Given the description of an element on the screen output the (x, y) to click on. 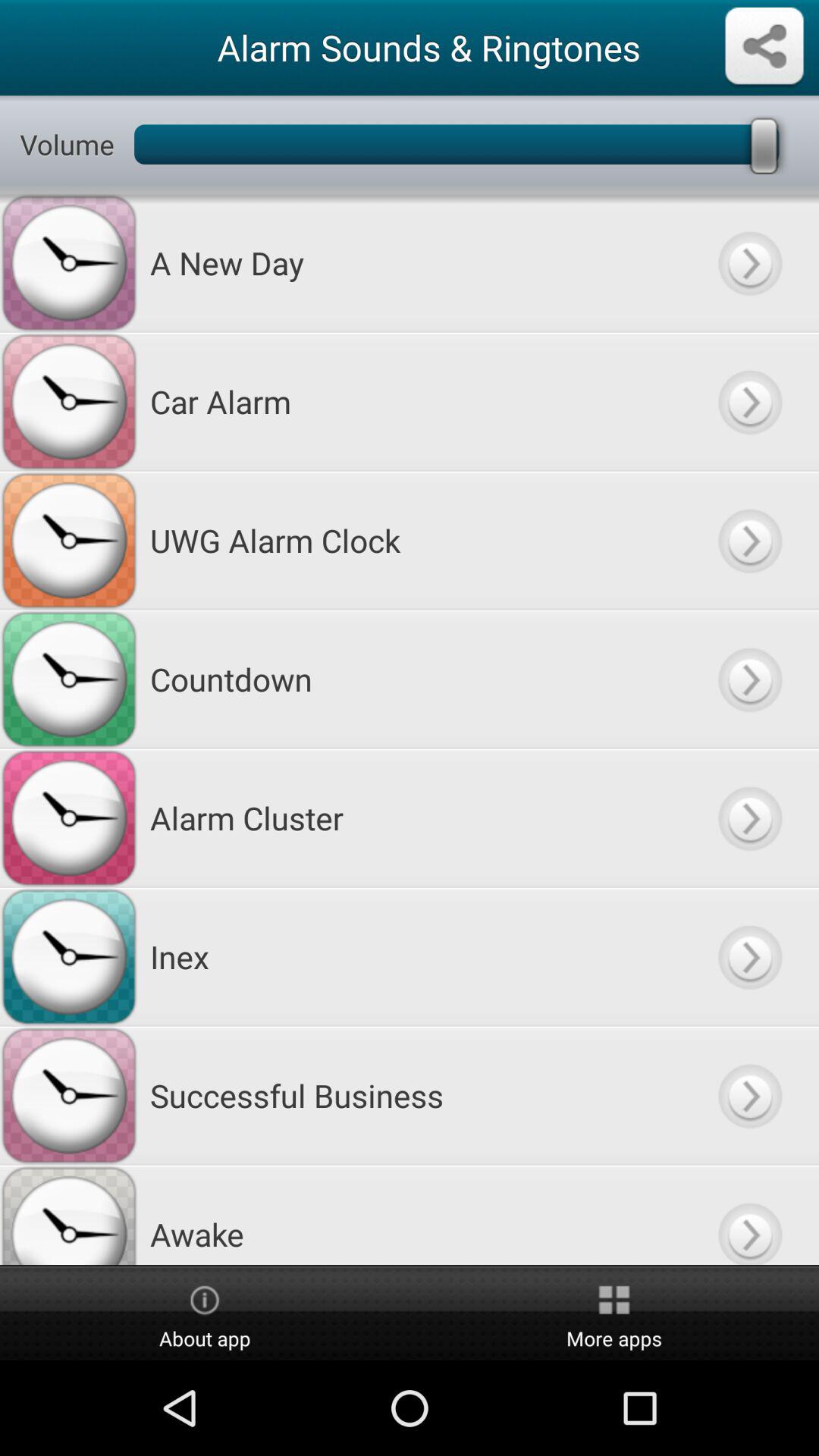
go button (749, 1214)
